Given the description of an element on the screen output the (x, y) to click on. 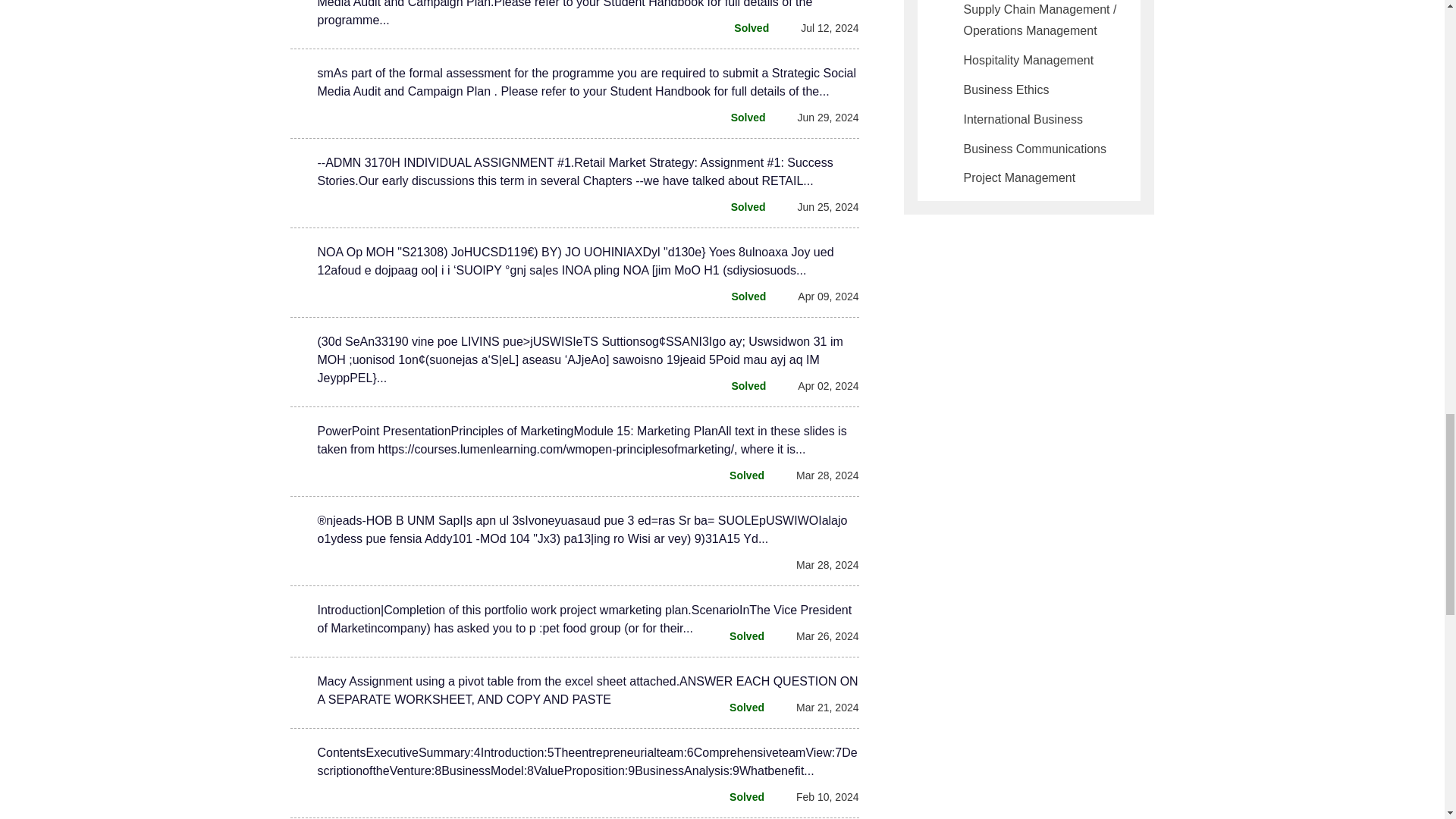
Posted On (818, 796)
Posted On (819, 117)
solved (738, 796)
Posted On (821, 27)
Posted On (818, 475)
solved (738, 636)
solved (738, 475)
Posted On (819, 207)
Posted On (819, 385)
solved (738, 707)
